Given the description of an element on the screen output the (x, y) to click on. 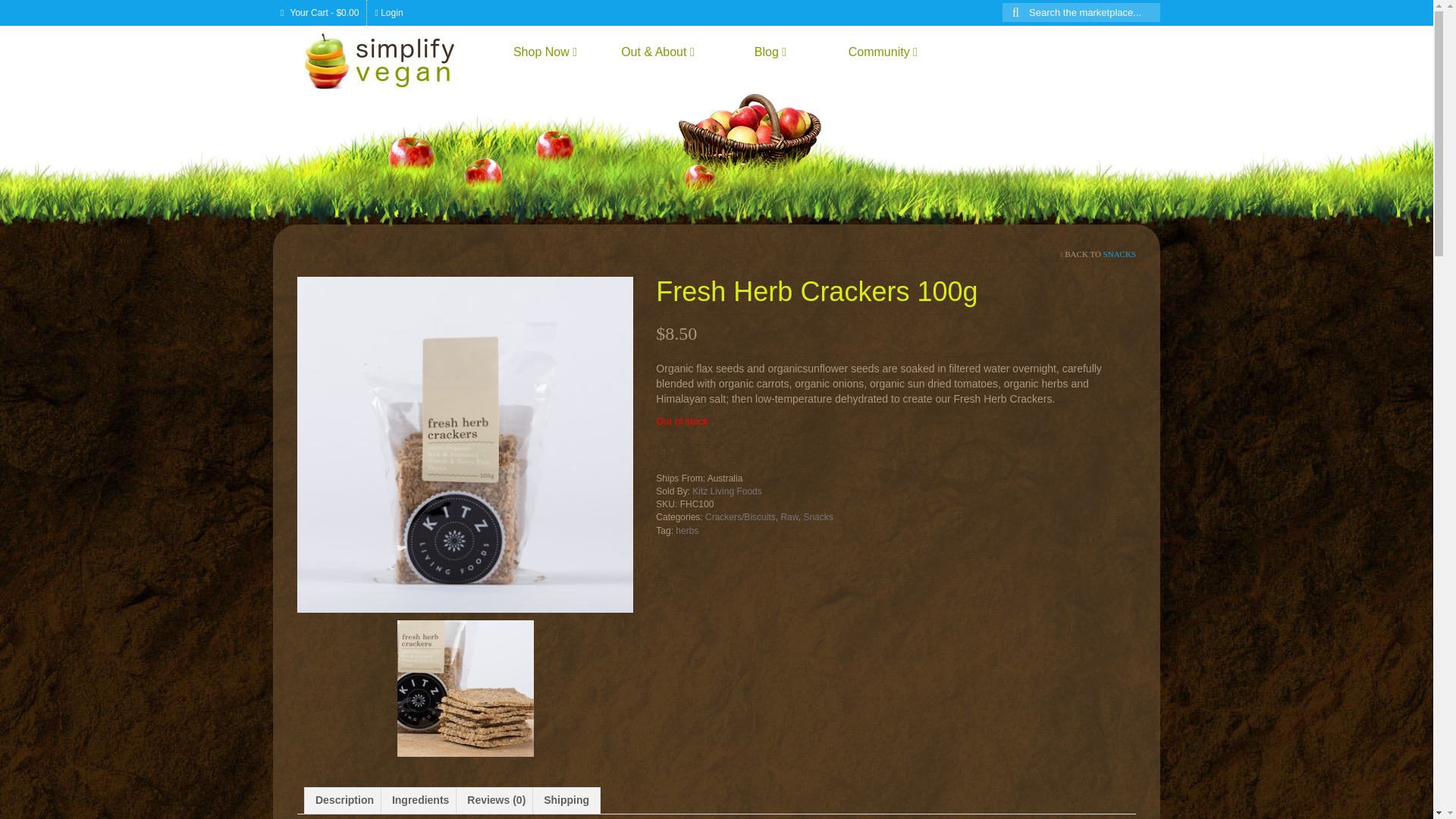
Login (388, 12)
simplifyvegan.com.au (391, 59)
View your shopping cart (319, 12)
Login (388, 12)
